Given the description of an element on the screen output the (x, y) to click on. 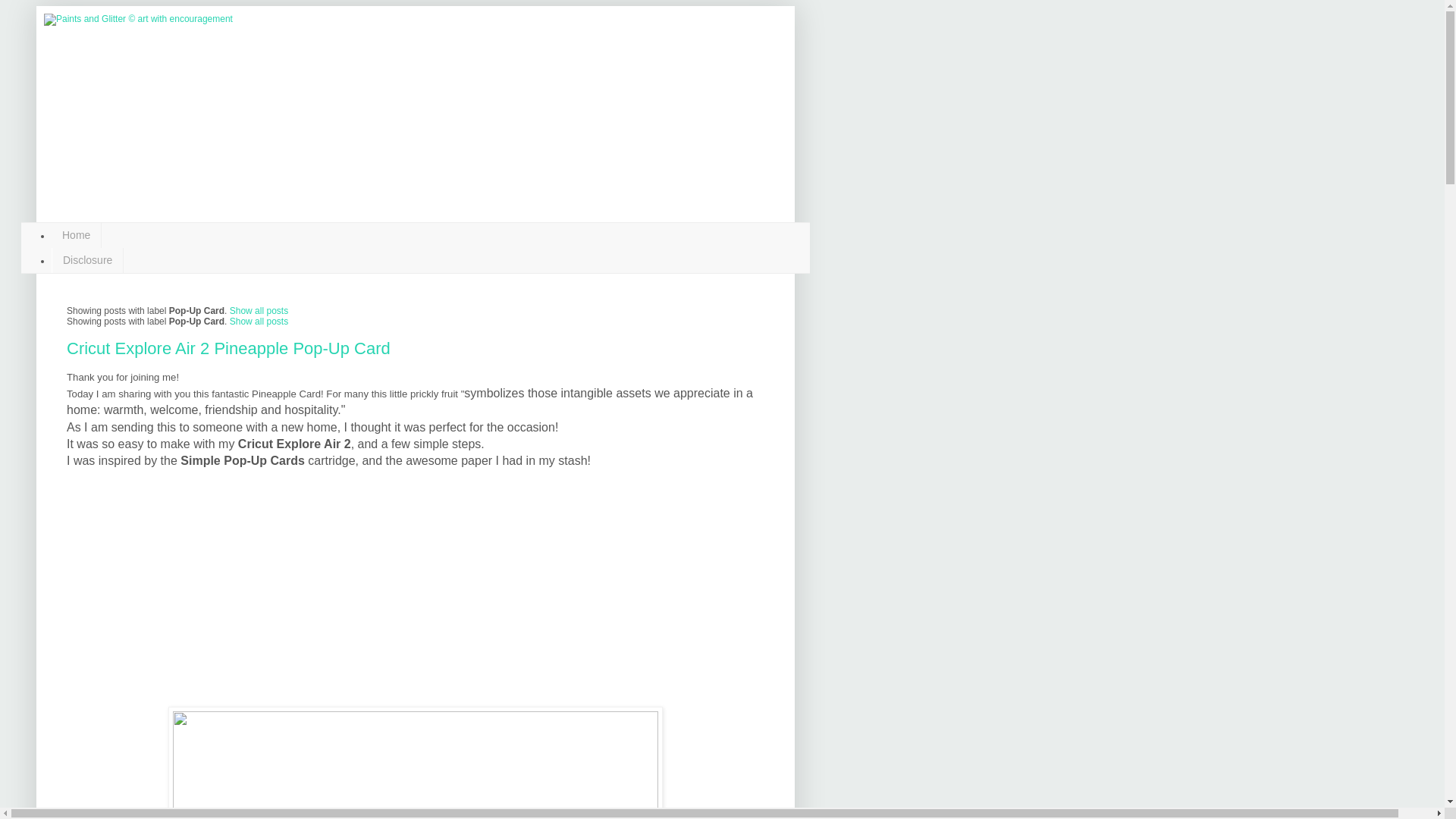
Cricut Explore Air 2 Pineapple Pop-Up Card (228, 348)
Home (75, 235)
Disclosure (86, 260)
Show all posts (259, 310)
Show all posts (259, 321)
